Given the description of an element on the screen output the (x, y) to click on. 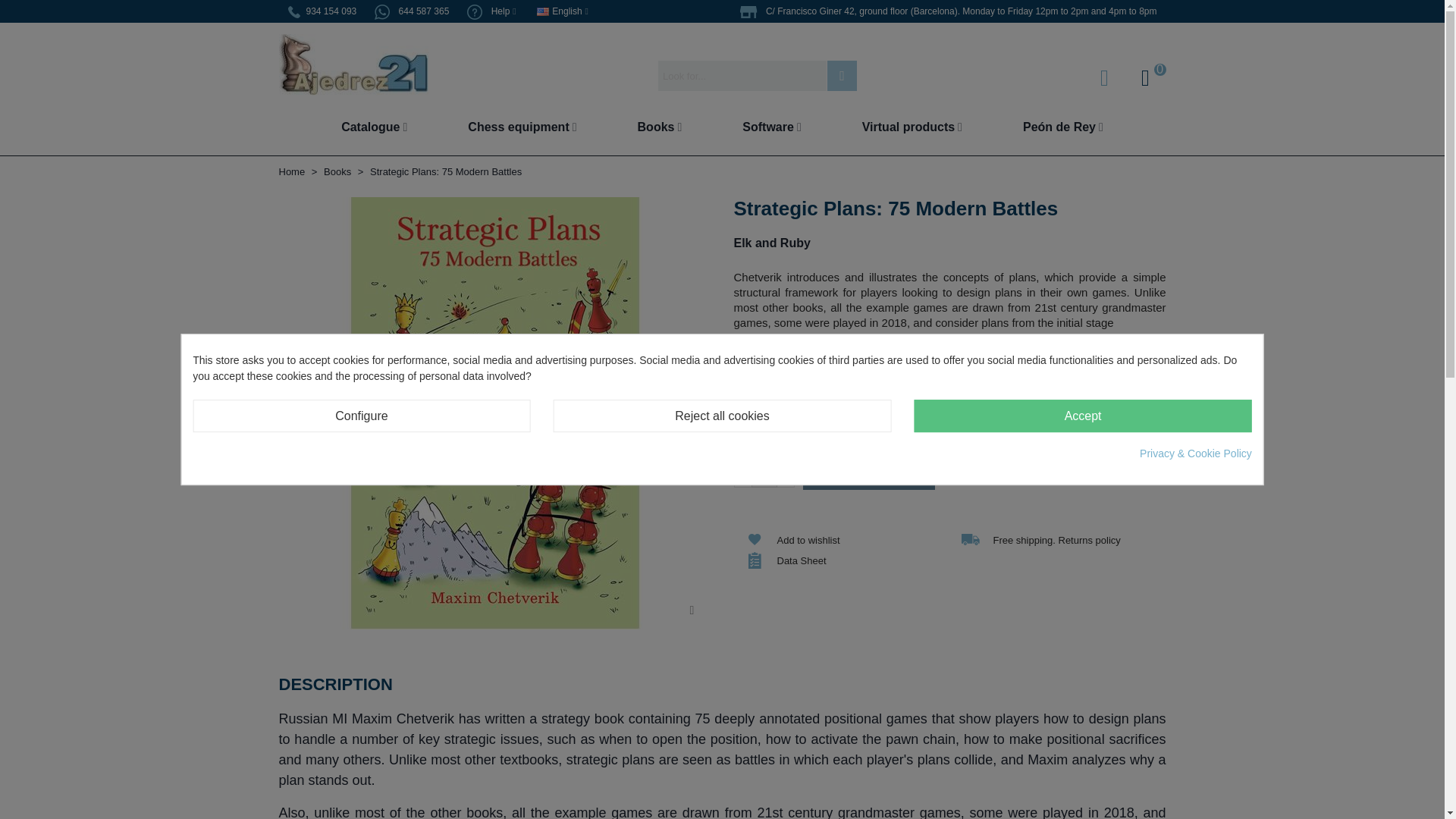
644 587 365 (411, 11)
934 154 093 (322, 11)
Catalogue (389, 126)
934 154 093 (322, 11)
Ajedrez21 (353, 75)
 644 587 365 (411, 11)
0 (1145, 75)
Chess equipment (522, 126)
